Given the description of an element on the screen output the (x, y) to click on. 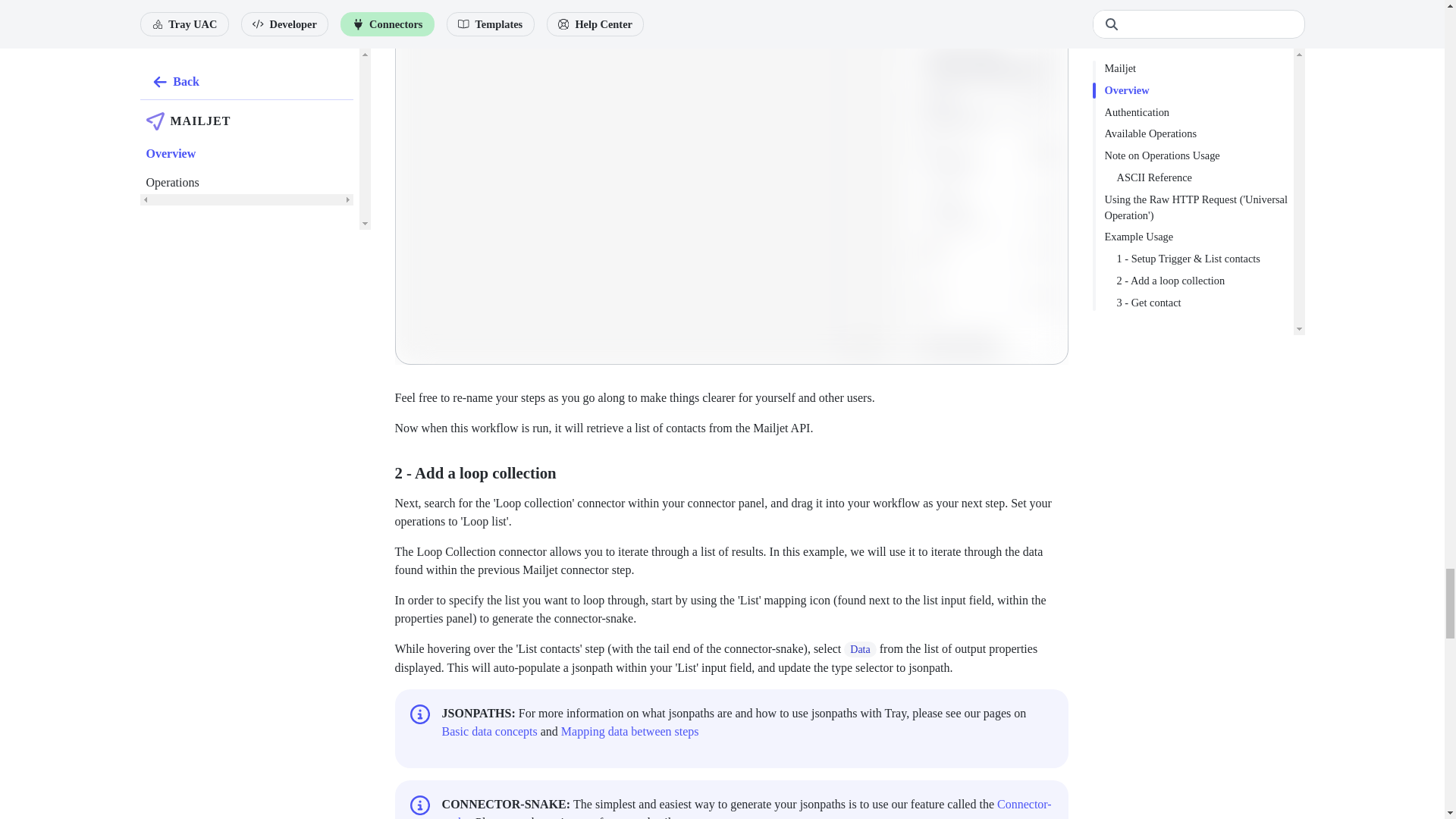
Basic data concepts (489, 730)
Connector-snake (746, 808)
Mapping data between steps (629, 730)
